Given the description of an element on the screen output the (x, y) to click on. 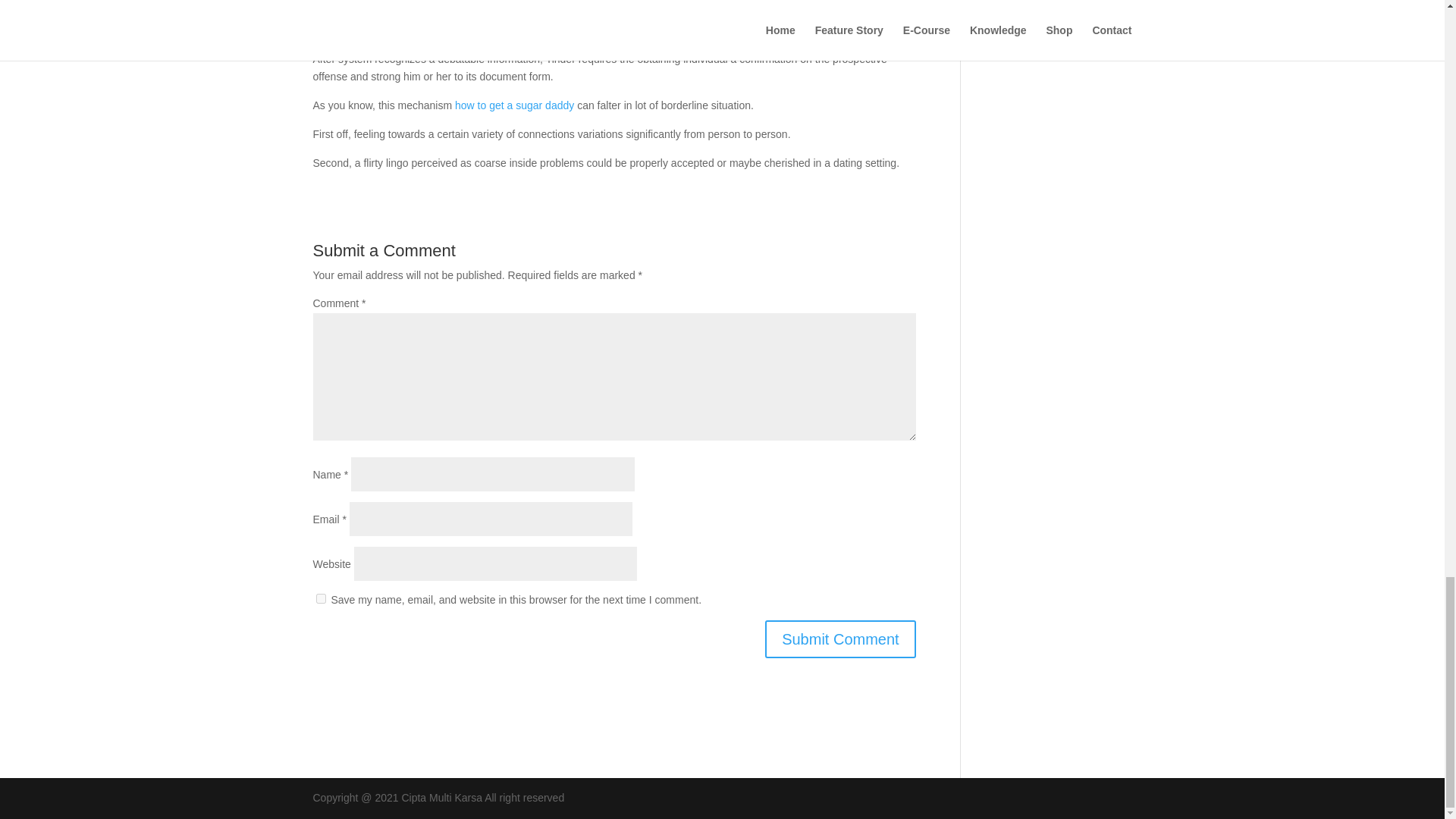
yes (319, 598)
Submit Comment (840, 638)
how to get a sugar daddy (513, 105)
Submit Comment (840, 638)
